Given the description of an element on the screen output the (x, y) to click on. 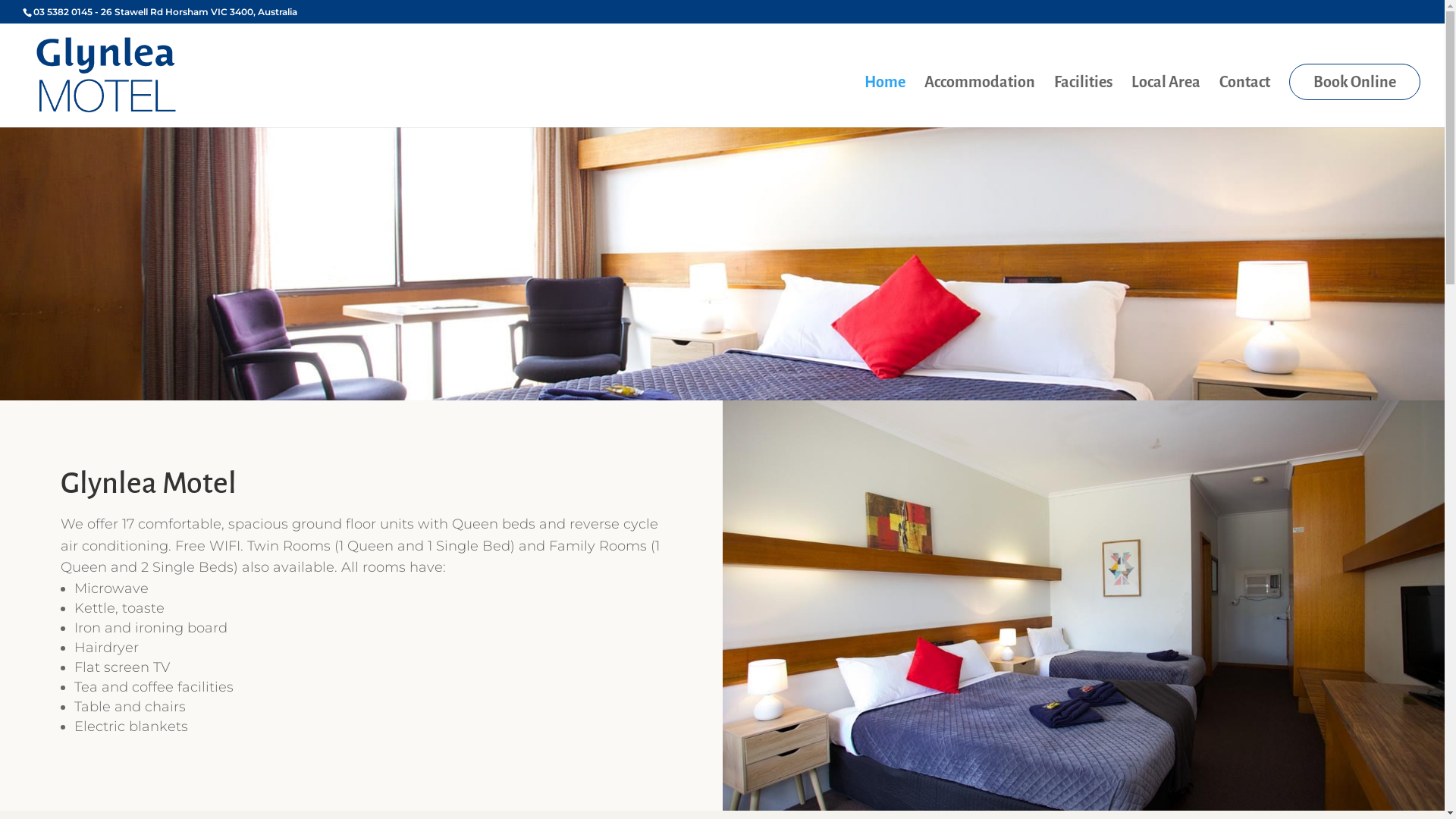
Accommodation Element type: text (979, 101)
Local Area Element type: text (1165, 101)
Facilities Element type: text (1083, 101)
Book Online Element type: text (1354, 81)
03 5382 0145 Element type: text (62, 11)
Home Element type: text (884, 101)
Contact Element type: text (1244, 101)
